Given the description of an element on the screen output the (x, y) to click on. 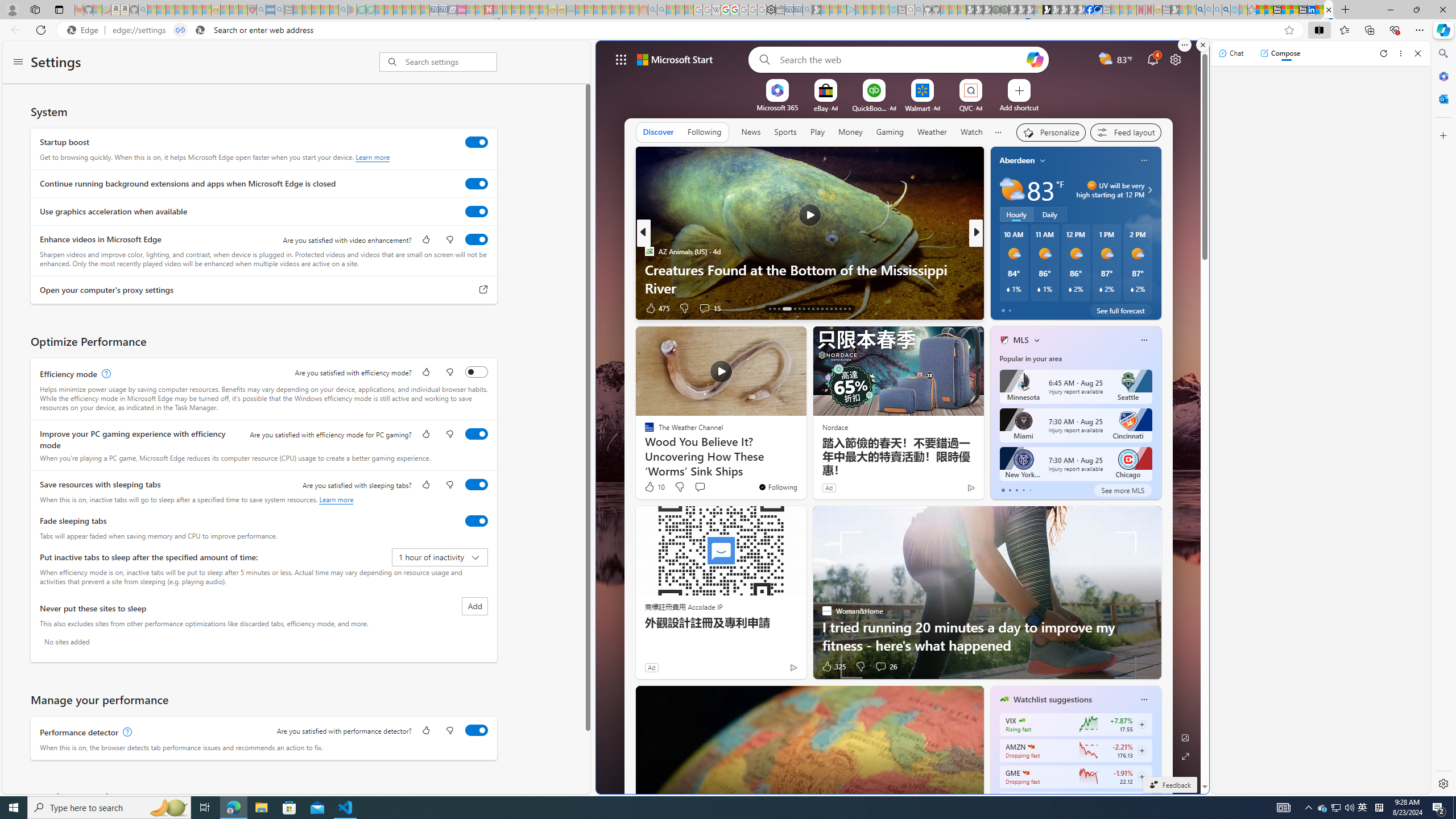
Enter your search term (901, 59)
next (1155, 233)
Chat (1230, 52)
69 Like (1005, 307)
My location (1042, 160)
